Given the description of an element on the screen output the (x, y) to click on. 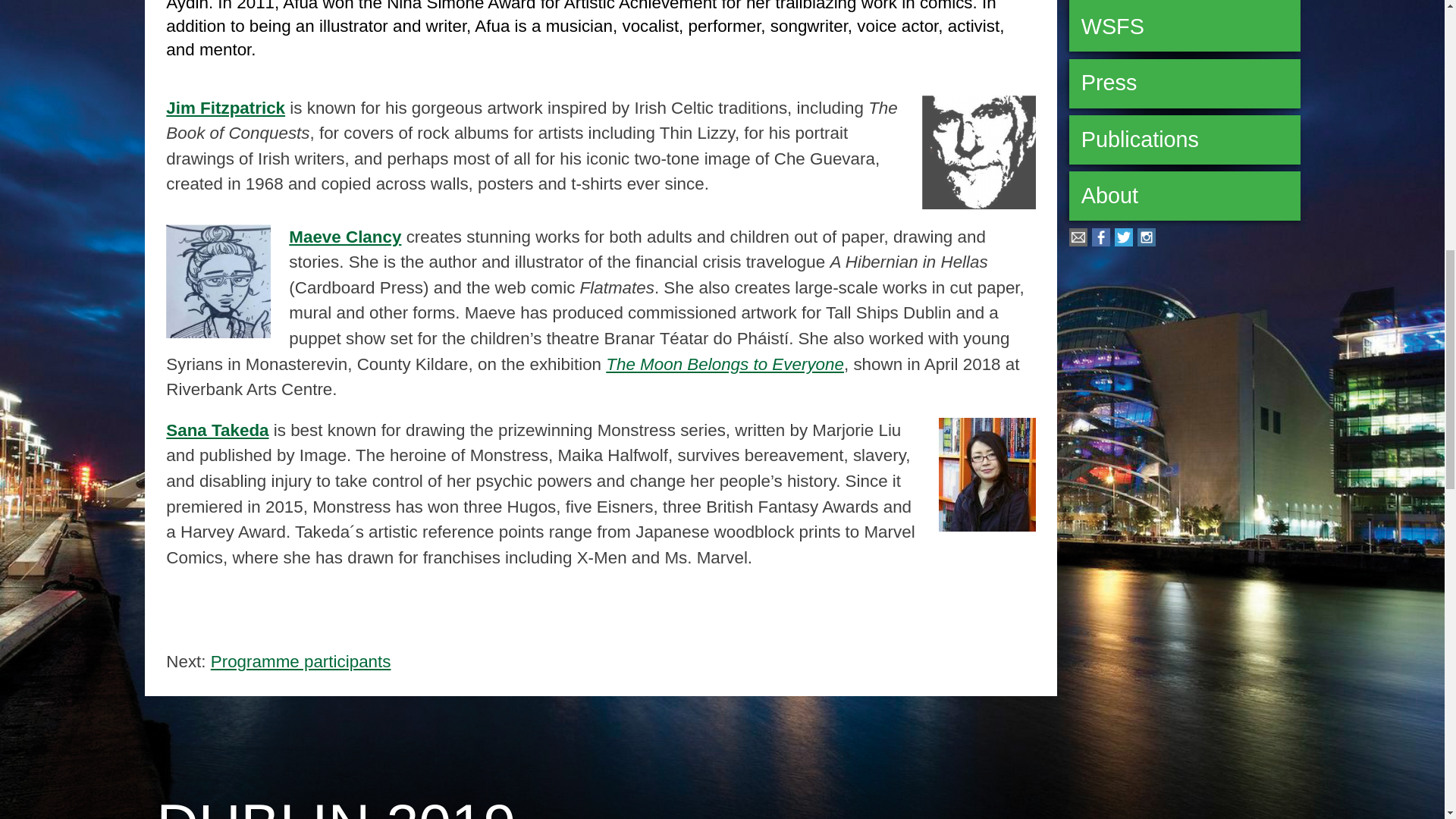
Email (1077, 240)
Programme participants (301, 660)
Dublin 2019 (335, 805)
Instagram (1146, 240)
Twitter (1123, 240)
Facebook (1100, 240)
